Given the description of an element on the screen output the (x, y) to click on. 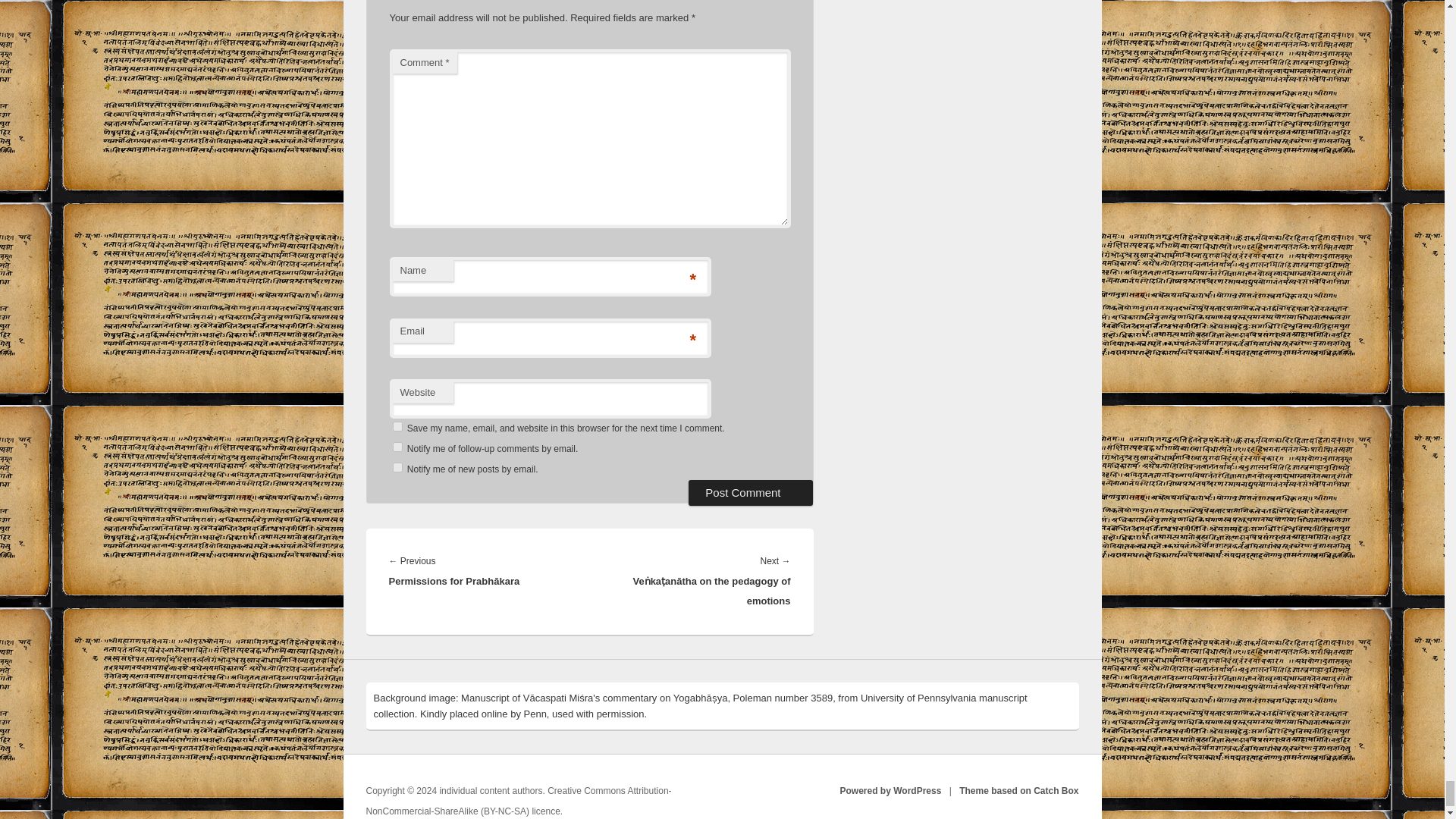
yes (398, 426)
Powered by WordPress (891, 790)
subscribe (398, 447)
Post Comment (750, 492)
Theme Catch Box by Catch Themes (1018, 790)
subscribe (398, 467)
